Given the description of an element on the screen output the (x, y) to click on. 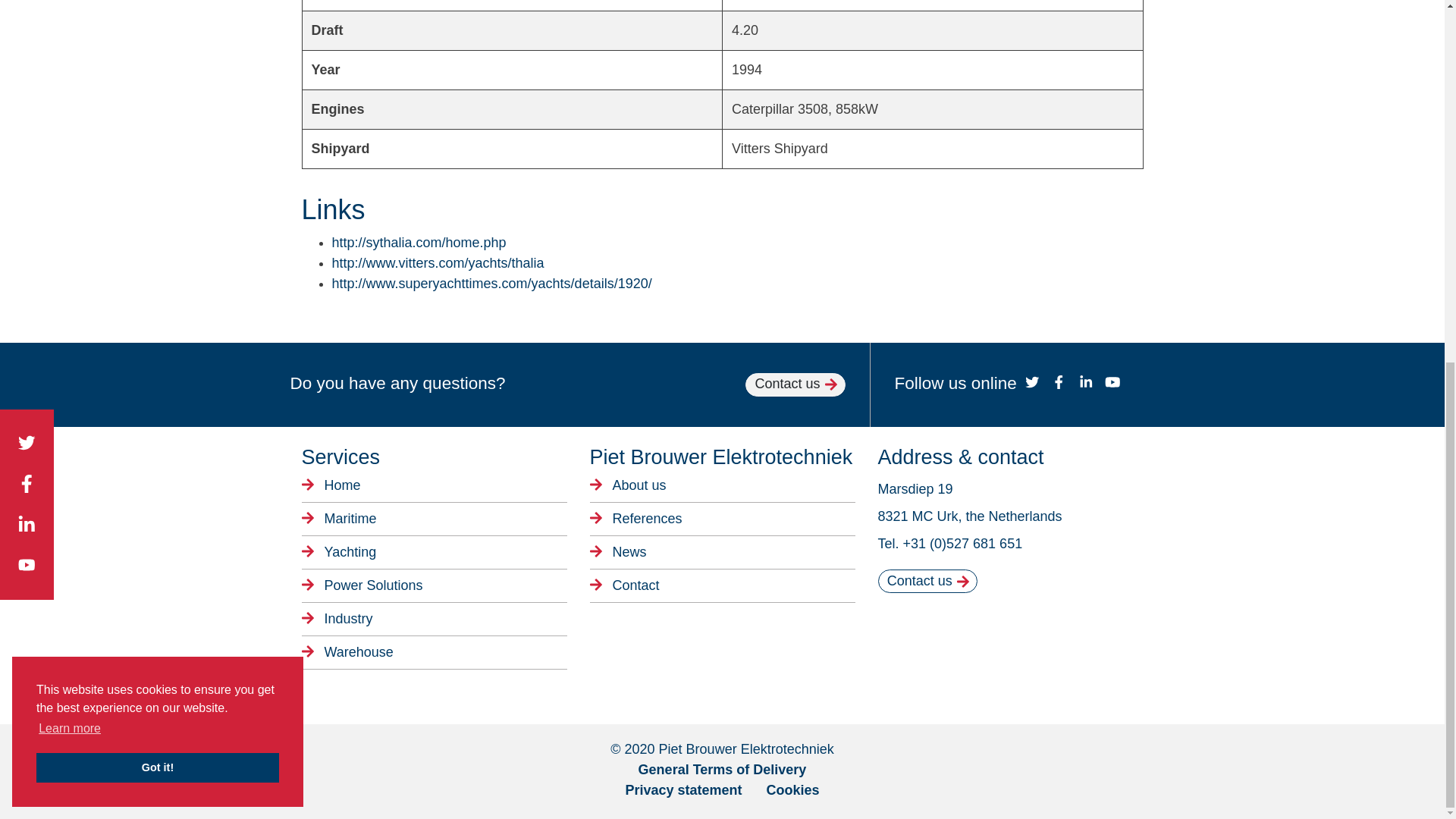
Warehouse (434, 652)
News (722, 552)
Contact us (794, 384)
Power Solutions (434, 585)
Industry (434, 618)
Learn more (69, 82)
Got it! (157, 121)
Yachting (434, 552)
References (722, 518)
Contact (722, 585)
Home (434, 488)
About us (722, 488)
Maritime (434, 518)
